Given the description of an element on the screen output the (x, y) to click on. 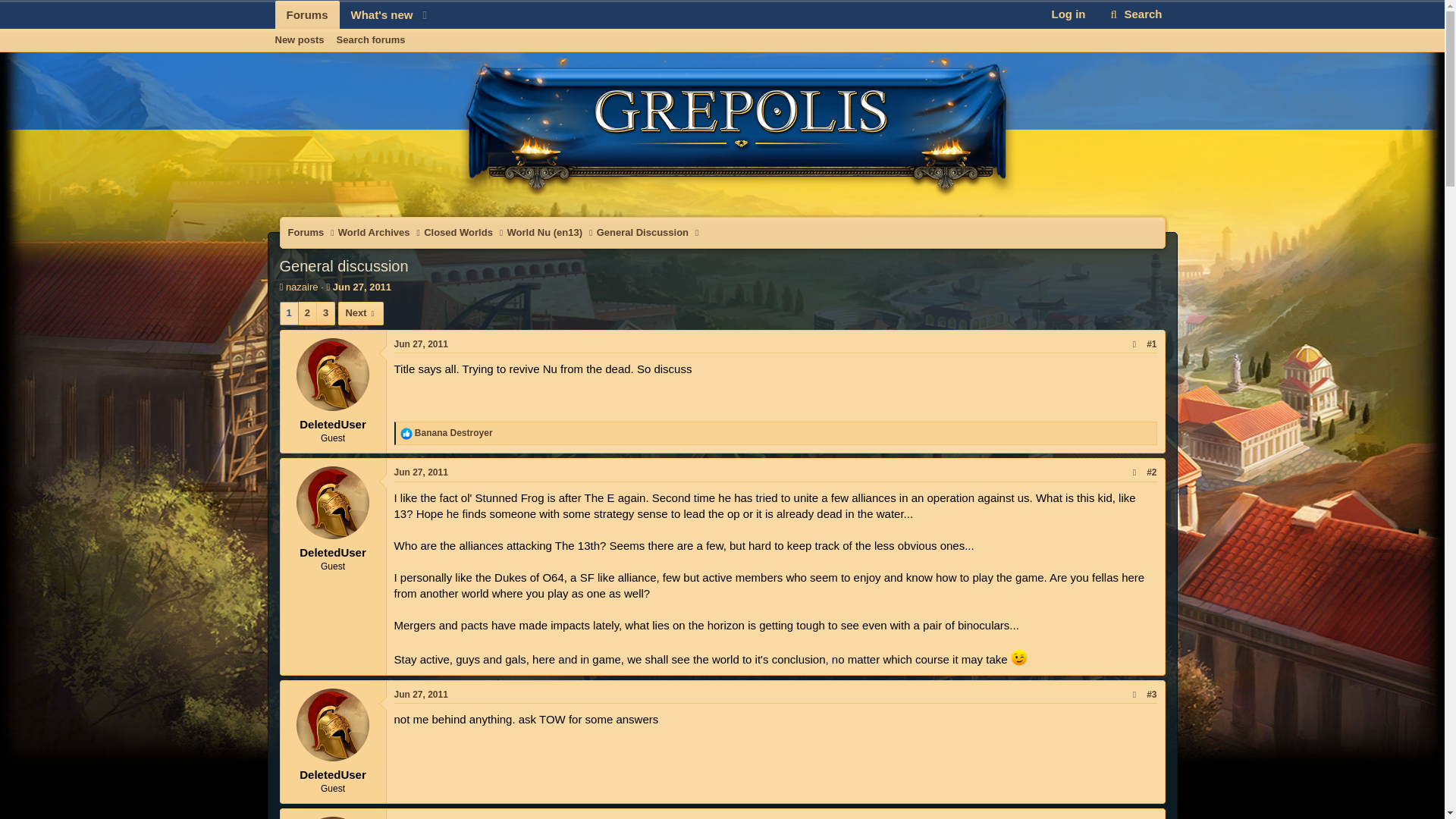
DeletedUser (333, 502)
Like (406, 433)
Jun 27, 2011 at 6:24 PM (354, 31)
Forums (421, 471)
Search forums (307, 14)
General Discussion (371, 39)
Jun 27, 2011 at 7:16 PM (642, 232)
Jun 27, 2011 (421, 818)
